Given the description of an element on the screen output the (x, y) to click on. 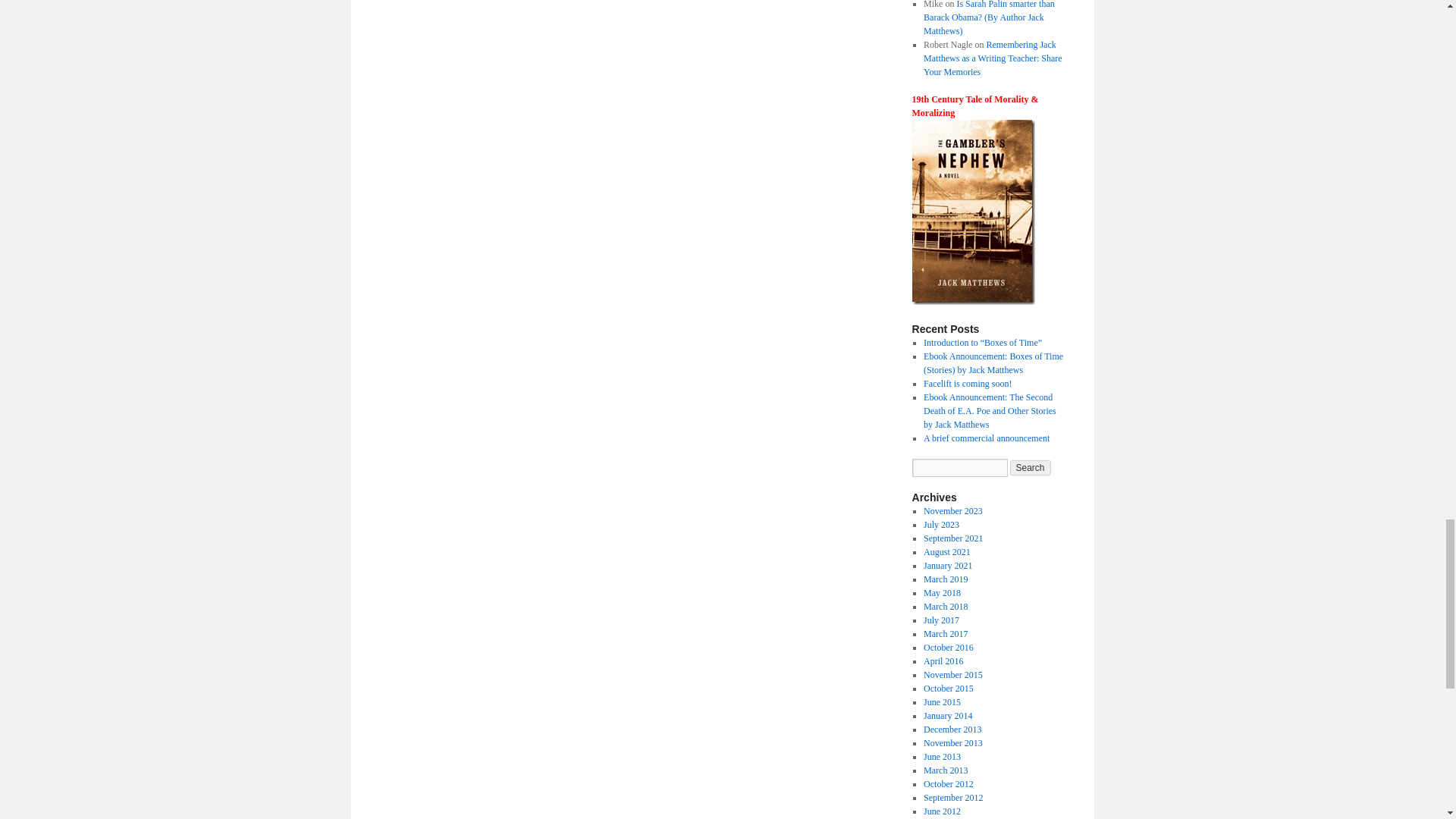
Search (1030, 467)
